Given the description of an element on the screen output the (x, y) to click on. 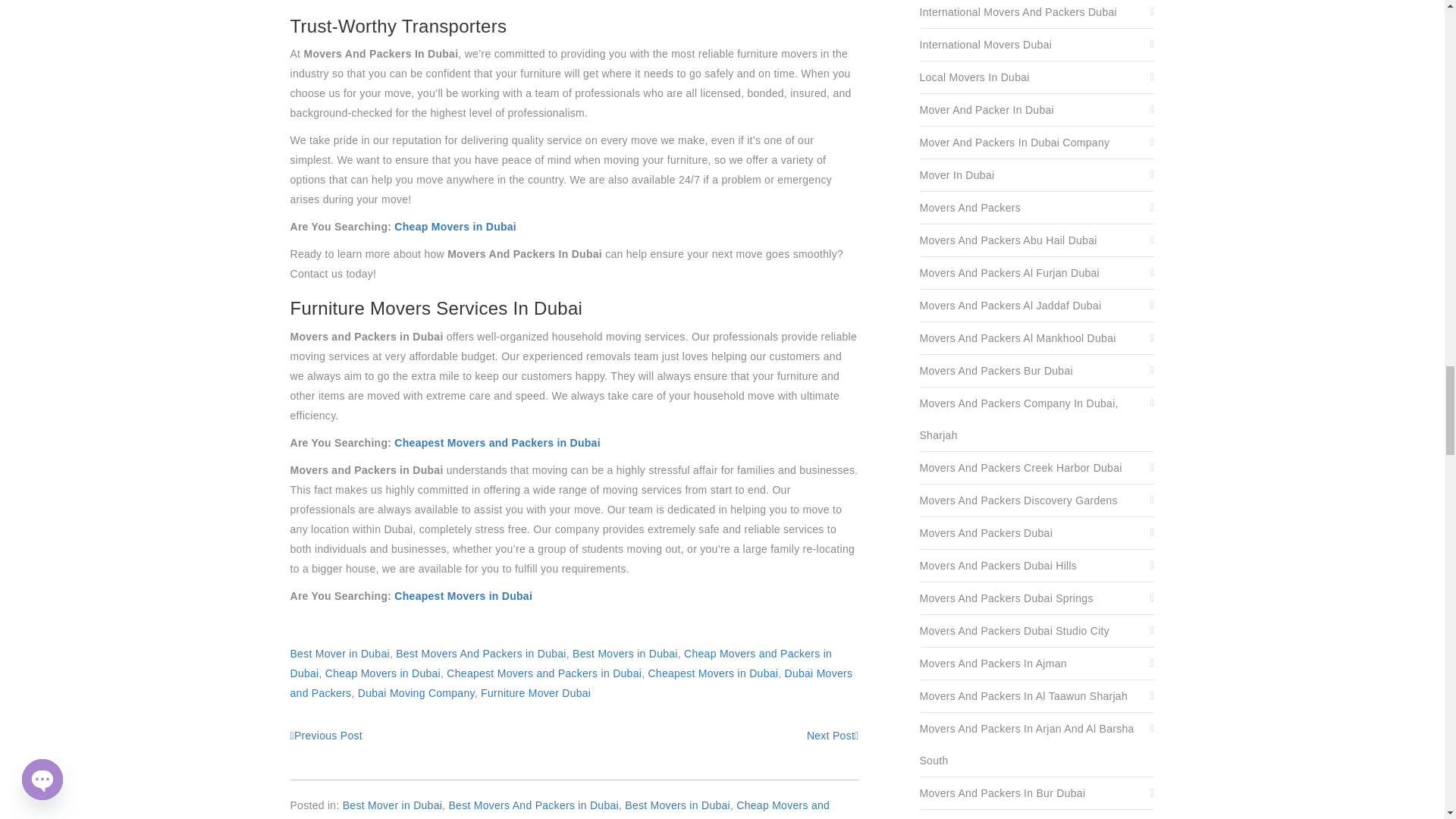
Cheap Movers in Dubai (382, 673)
Cheap Movers in Dubai (455, 226)
Dubai Movers and Packers (570, 683)
Cheapest Movers in Dubai (463, 595)
Best Mover in Dubai (338, 653)
Cheapest Movers and Packers in Dubai (496, 442)
Home Shifting in Dubai (832, 735)
Dubai Moving Company (325, 735)
Cheapest Movers and Packers in Dubai (544, 673)
Cheap Movers and Packers in Dubai (560, 663)
